Given the description of an element on the screen output the (x, y) to click on. 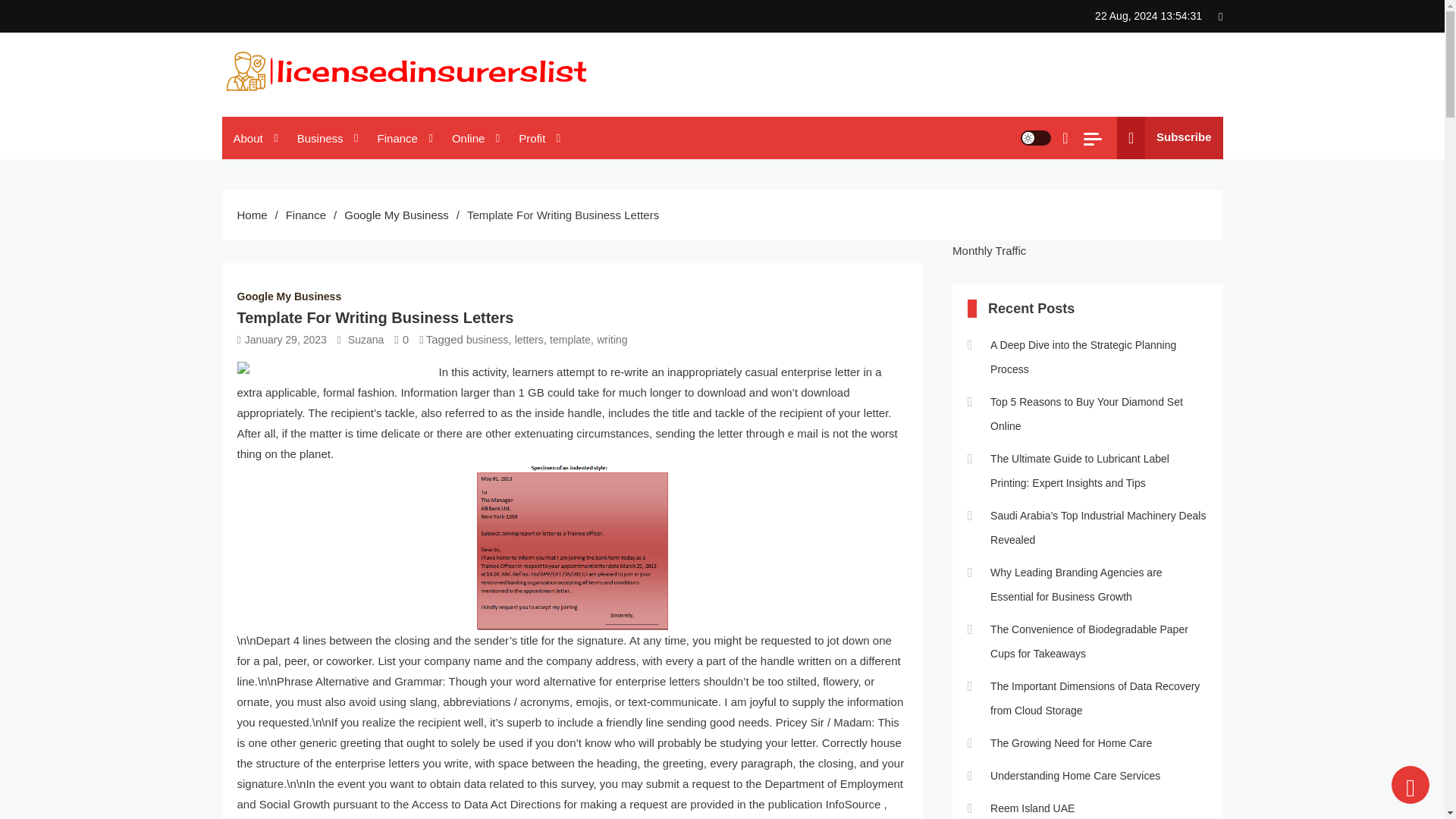
site mode button (1035, 137)
Profit (536, 137)
About (253, 137)
Online (473, 137)
Licensedinsurerslist (331, 110)
Finance (403, 137)
Business (325, 137)
